Given the description of an element on the screen output the (x, y) to click on. 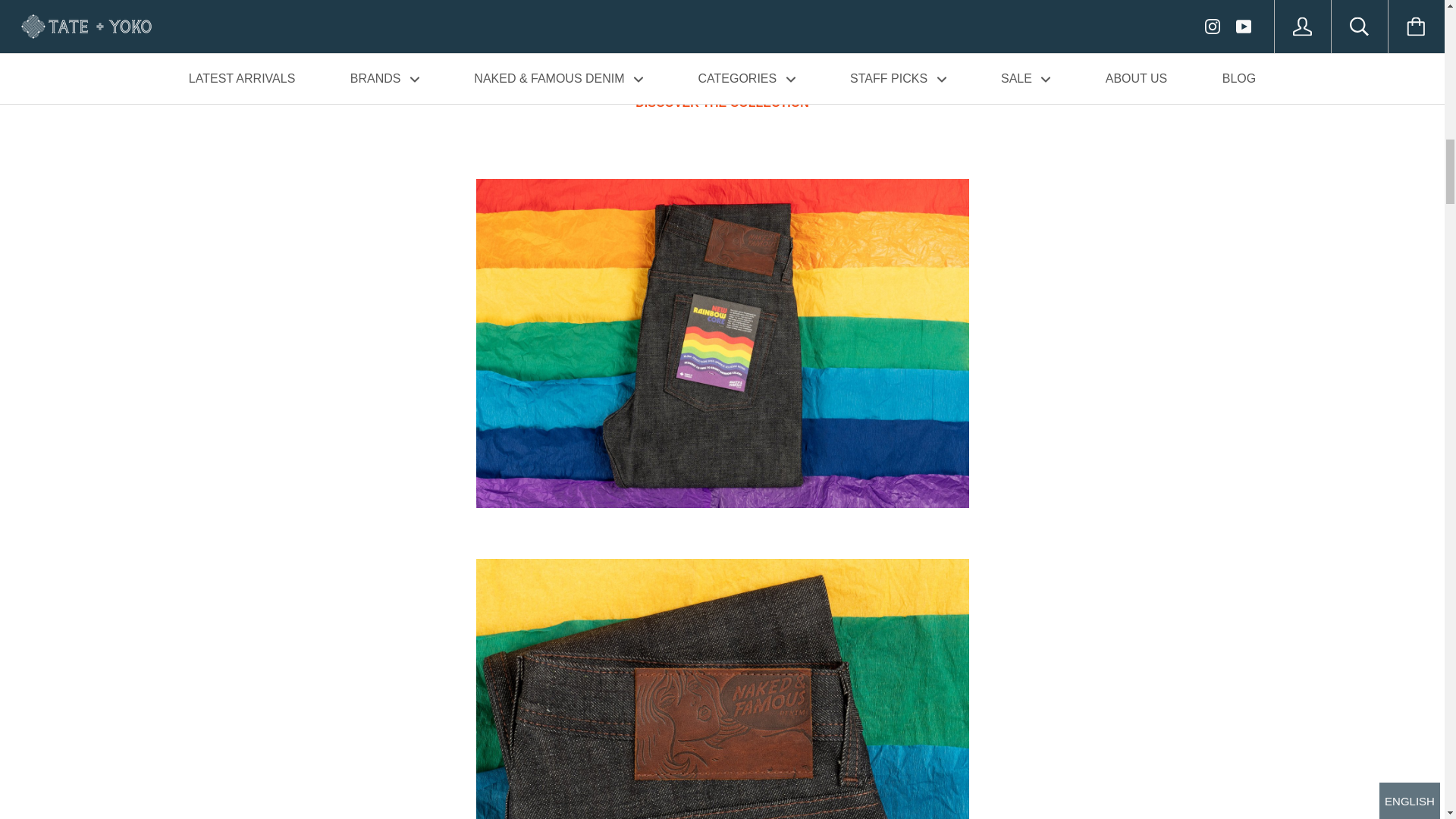
New Rainbow Core Selvedge (721, 102)
